Given the description of an element on the screen output the (x, y) to click on. 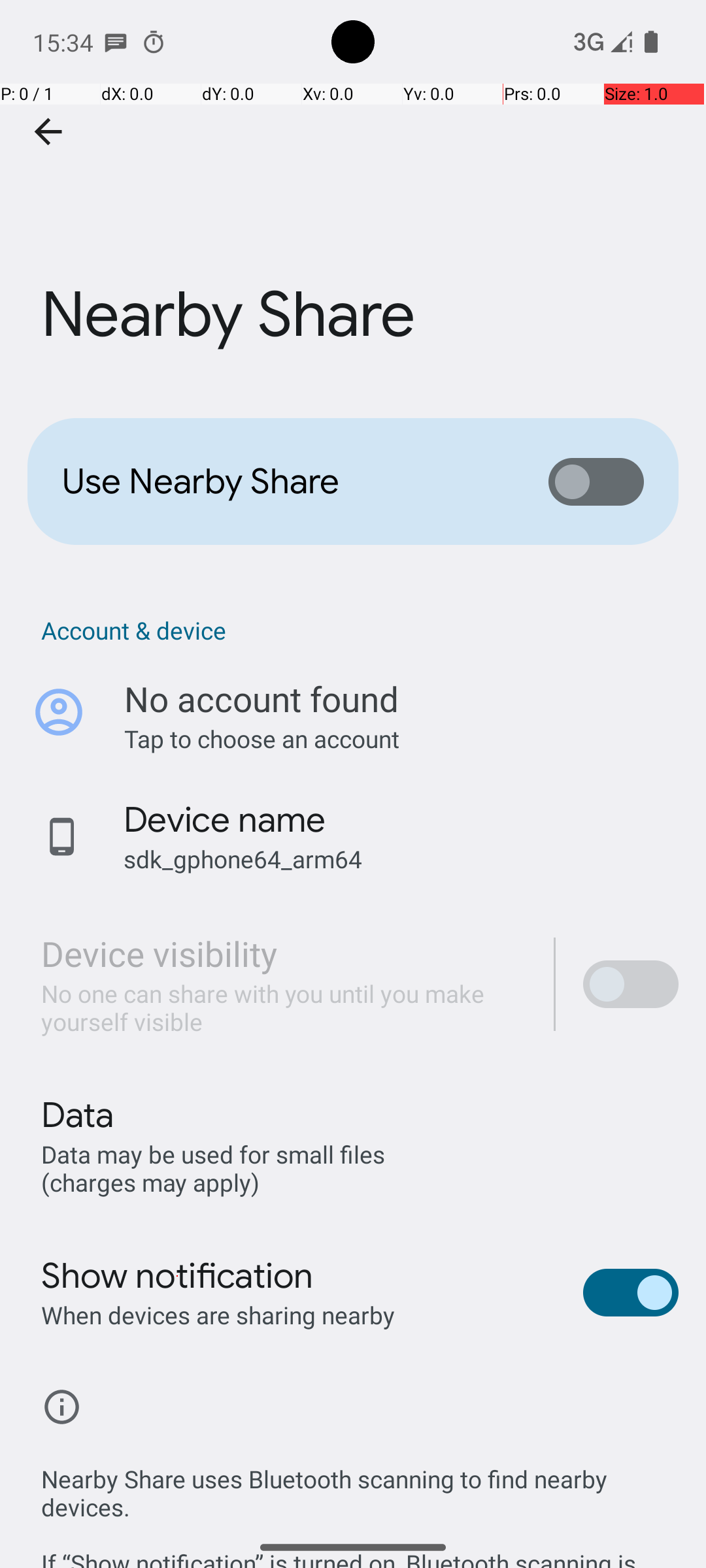
Use Nearby Share Element type: android.widget.TextView (284, 481)
Account & device Element type: android.widget.TextView (359, 629)
Tap to choose an account Element type: android.widget.TextView (401, 738)
Data Element type: android.widget.TextView (77, 1115)
Data may be used for small files 
(charges may apply) Element type: android.widget.TextView (215, 1167)
Show notification Element type: android.widget.TextView (177, 1275)
When devices are sharing nearby Element type: android.widget.TextView (218, 1314)
Nearby Share uses Bluetooth scanning to find nearby devices. 

If “Show notification” is turned on, Bluetooth scanning is used to notify you if someone wants to share with you, even when Nearby Share is turned off. Element type: android.widget.TextView (359, 1501)
No one can share with you until you make yourself visible Element type: android.widget.TextView (283, 1007)
